Given the description of an element on the screen output the (x, y) to click on. 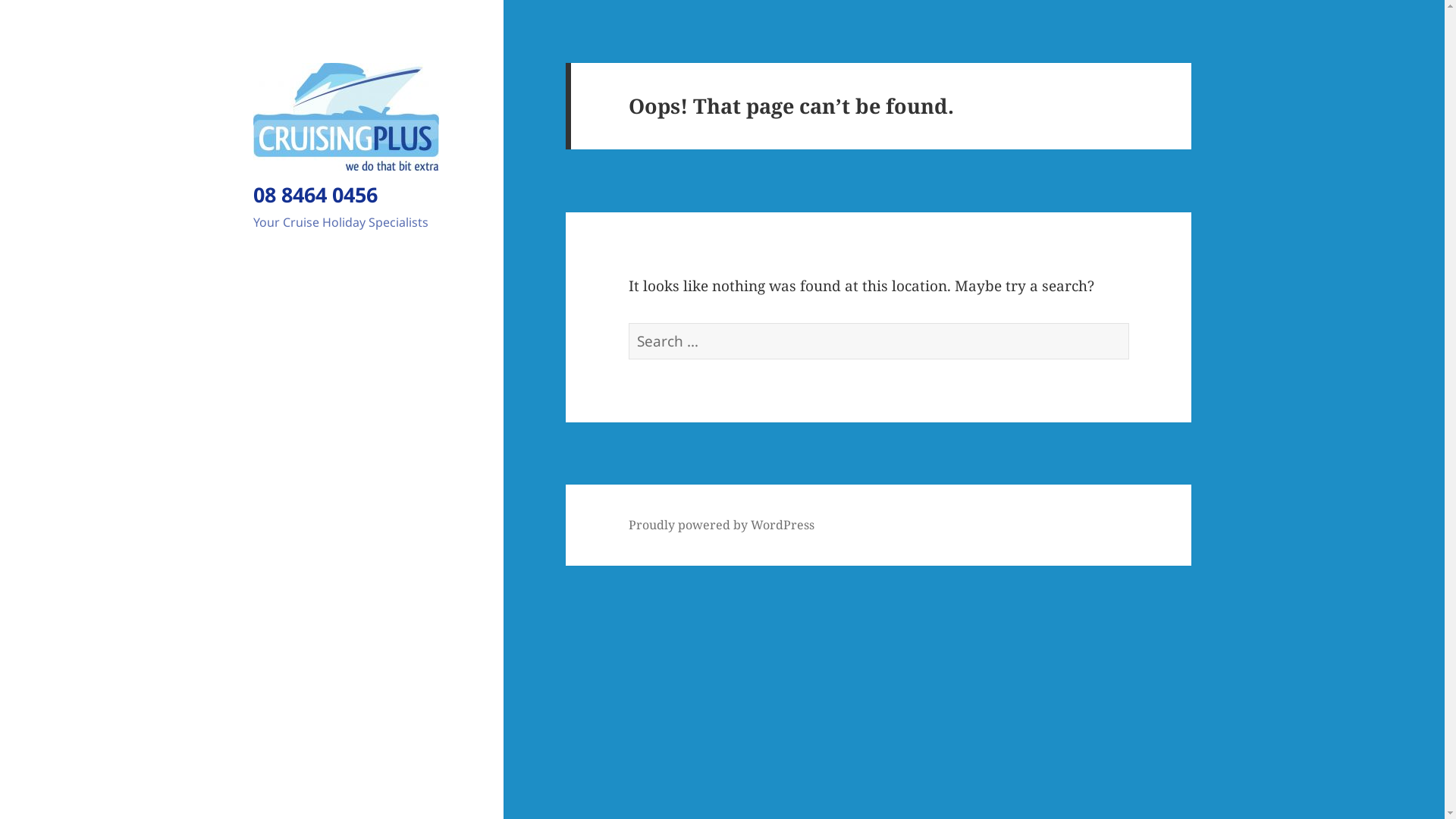
Search Element type: text (1128, 322)
08 8464 0456 Element type: text (315, 194)
Proudly powered by WordPress Element type: text (721, 524)
